Given the description of an element on the screen output the (x, y) to click on. 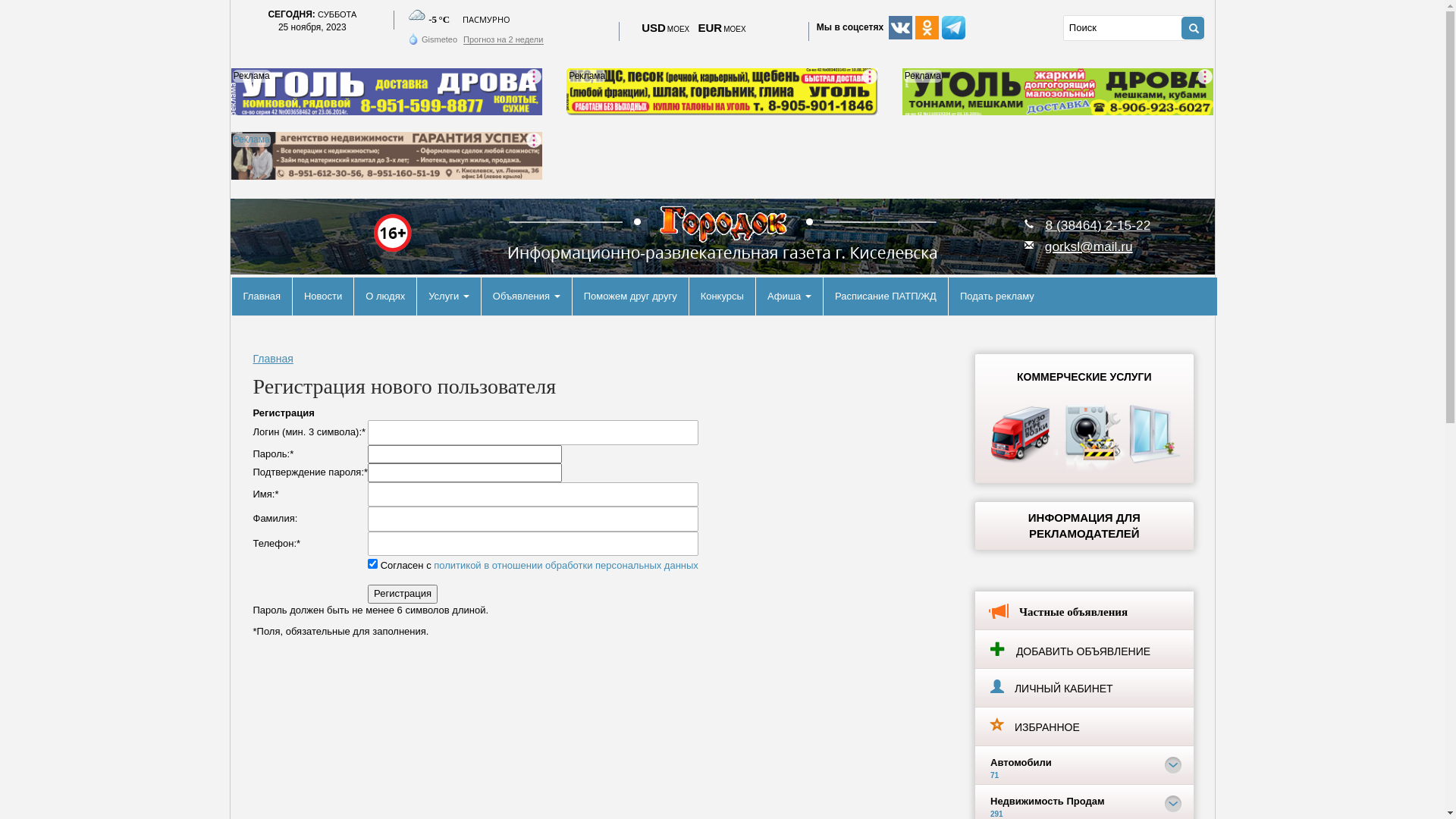
8 (38464) 2-15-22 Element type: text (1098, 224)
gorksl@mail.ru Element type: text (1088, 245)
